Given the description of an element on the screen output the (x, y) to click on. 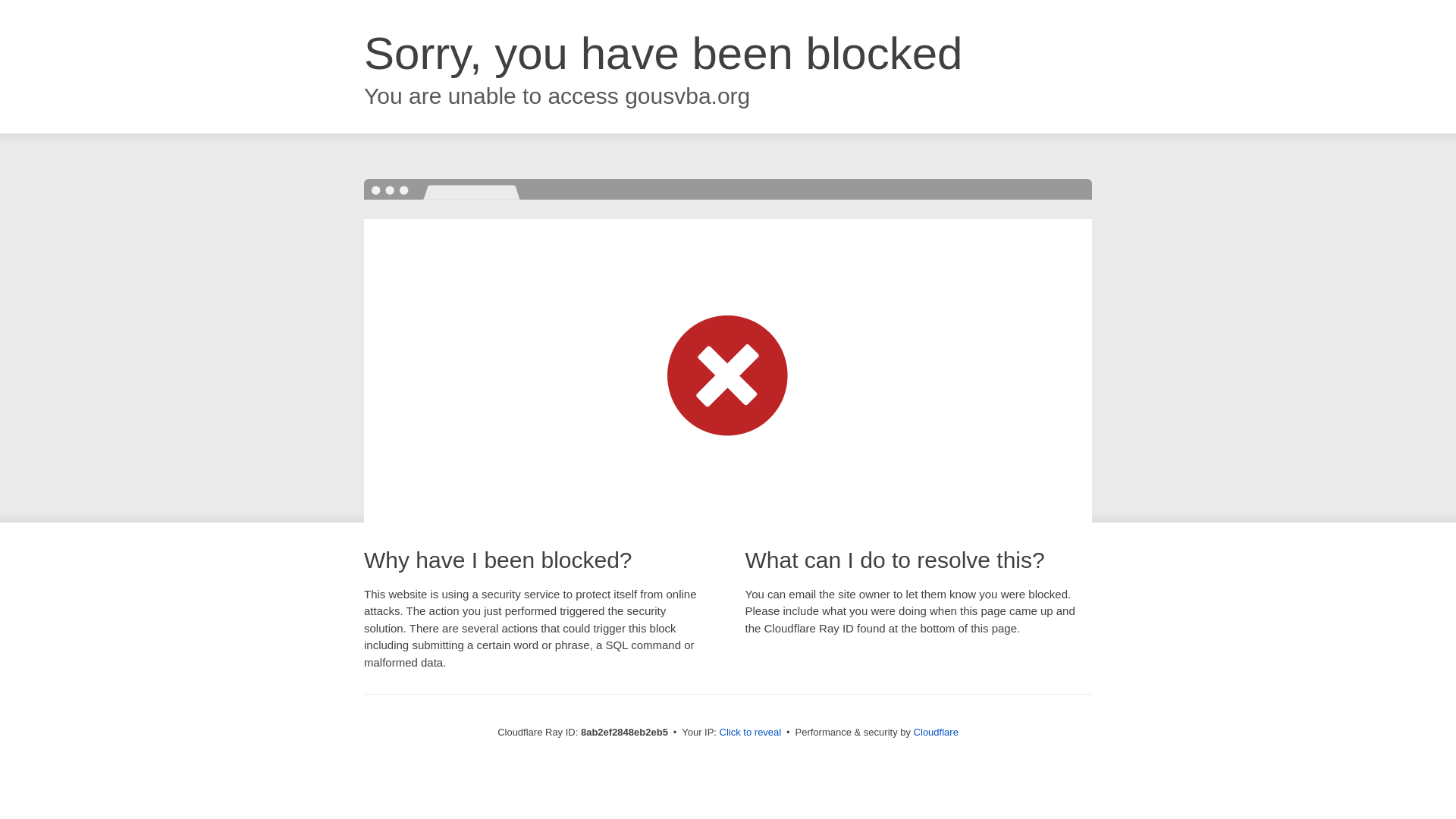
Click to reveal (750, 732)
Cloudflare (936, 731)
